Given the description of an element on the screen output the (x, y) to click on. 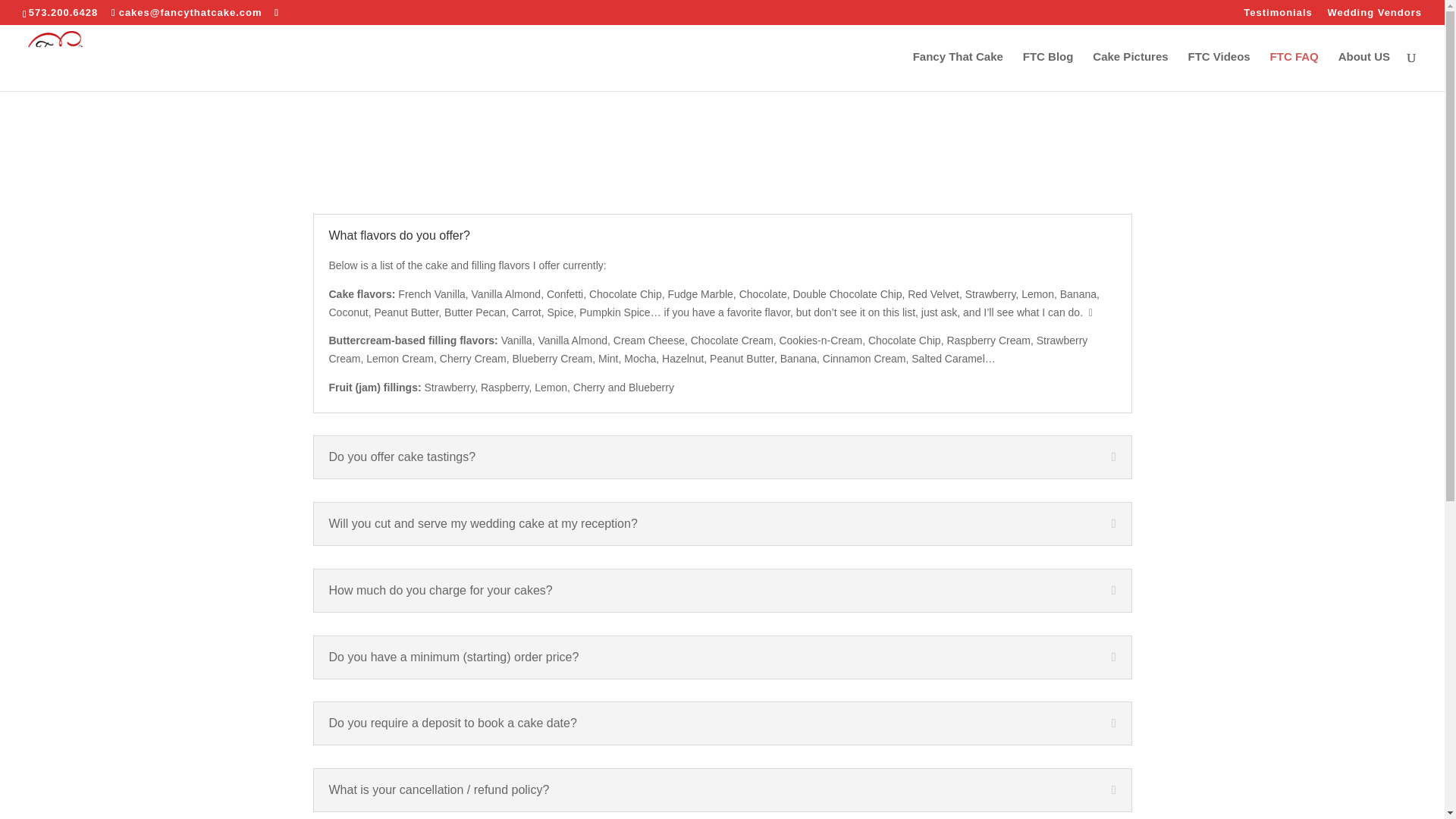
FTC FAQ (1294, 70)
Cake Pictures (1130, 70)
FTC Blog (1048, 70)
Wedding Vendors (1374, 16)
About US (1364, 70)
Fancy That Cake (957, 70)
Testimonials (1278, 16)
FTC Videos (1218, 70)
